Given the description of an element on the screen output the (x, y) to click on. 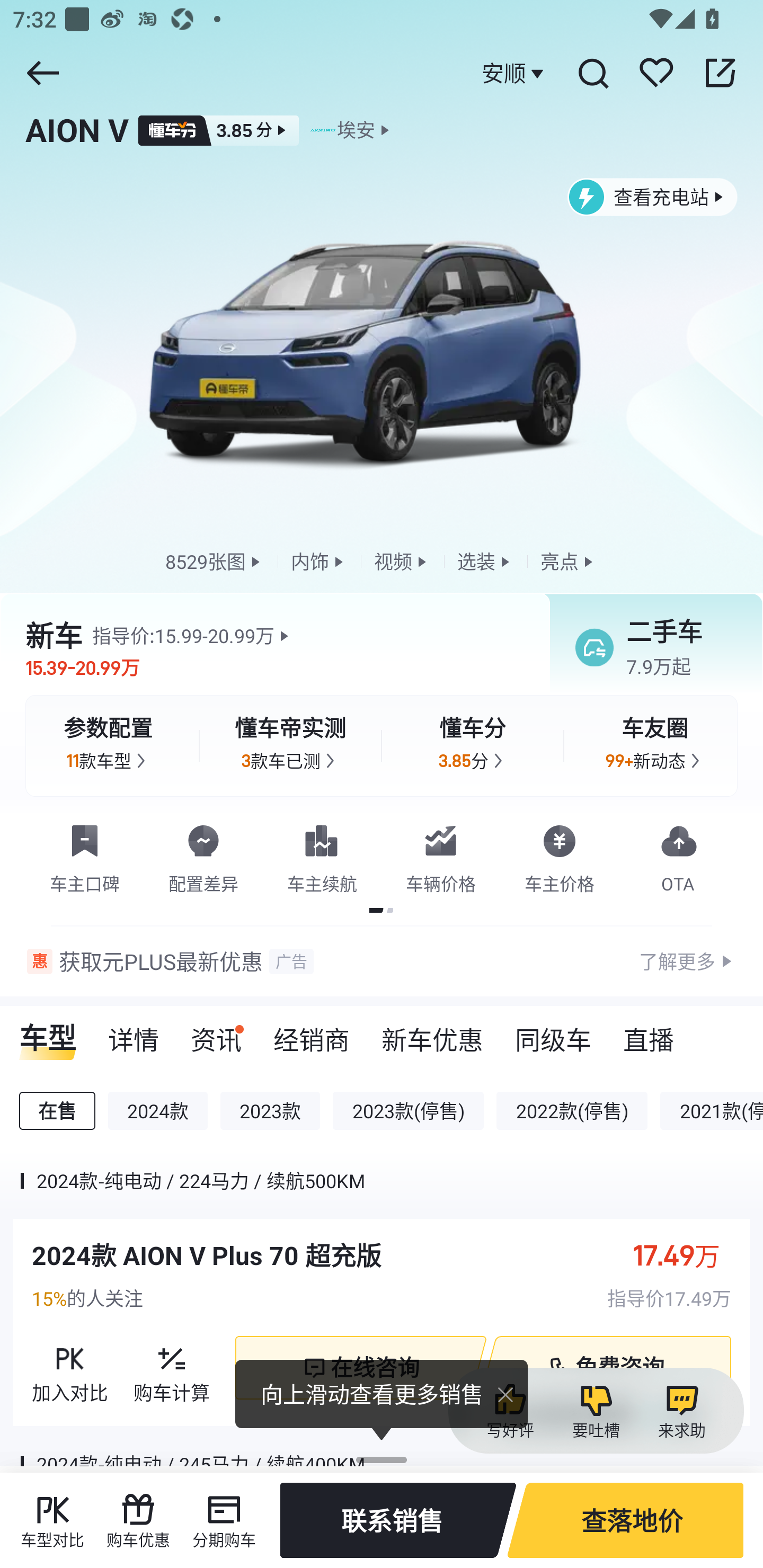
 (42, 72)
 (592, 72)
 (720, 72)
安顺 (514, 73)
埃安 (356, 130)
查看充电站  (652, 197)
8529张图 (214, 560)
内饰 (318, 560)
视频 (402, 560)
选装 (485, 560)
亮点 (568, 560)
二手车 7.9万起 (650, 646)
指导价:15.99-20.99万 (192, 635)
参数配置 11 款车型  (107, 745)
懂车帝实测 3 款车已测  (290, 745)
懂车分 3.85 分  (472, 745)
车友圈 99+ 新动态  (654, 745)
车主口碑 (84, 855)
配置差异 (203, 855)
车主续航 (321, 855)
车辆价格 (440, 855)
车主价格 (559, 855)
OTA (677, 855)
惠 获取元PLUS最新优惠 广告 了解更多  (381, 960)
车型 (47, 1033)
详情 (133, 1033)
资讯 (215, 1033)
经销商 (311, 1033)
新车优惠 (431, 1033)
同级车 (553, 1033)
直播 (648, 1033)
在售 (57, 1110)
2024款 (157, 1110)
2023款 (269, 1110)
2023款(停售) (407, 1110)
2022款(停售) (571, 1110)
17.49 万 (685, 1255)
加入对比 (70, 1366)
 购车计算 (171, 1366)
向上滑动查看更多销售 (381, 1399)
要吐槽 (595, 1410)
来求助 (681, 1410)
车型对比 (52, 1520)
购车优惠 (138, 1520)
分期购车 (224, 1520)
联系销售 (398, 1519)
查落地价 (625, 1519)
